Given the description of an element on the screen output the (x, y) to click on. 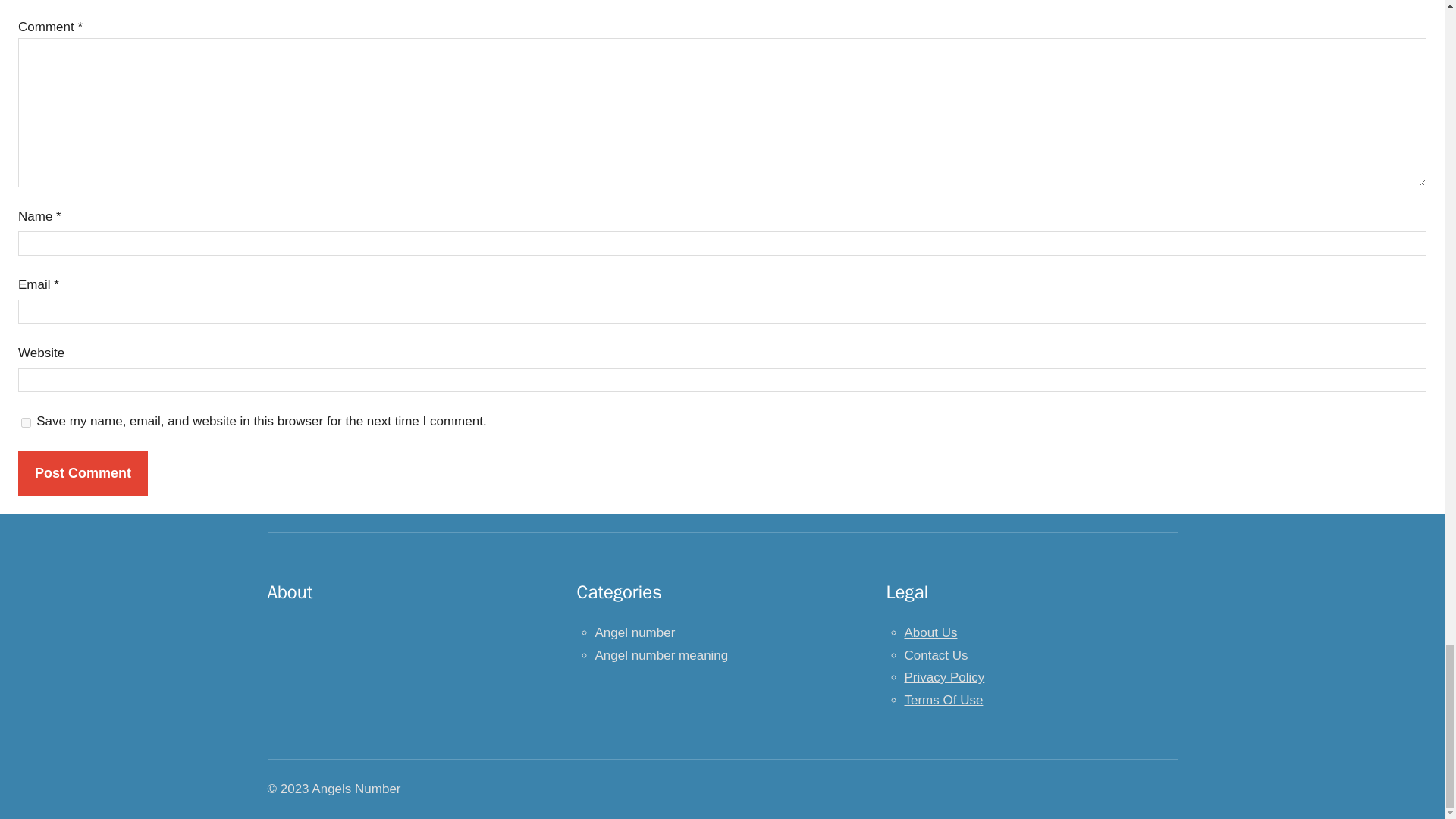
Privacy Policy (944, 677)
yes (25, 422)
Terms Of Use (943, 699)
Post Comment (82, 473)
Angel number (634, 632)
Angel number meaning (661, 655)
About Us (930, 632)
Contact Us (936, 655)
Post Comment (82, 473)
